Given the description of an element on the screen output the (x, y) to click on. 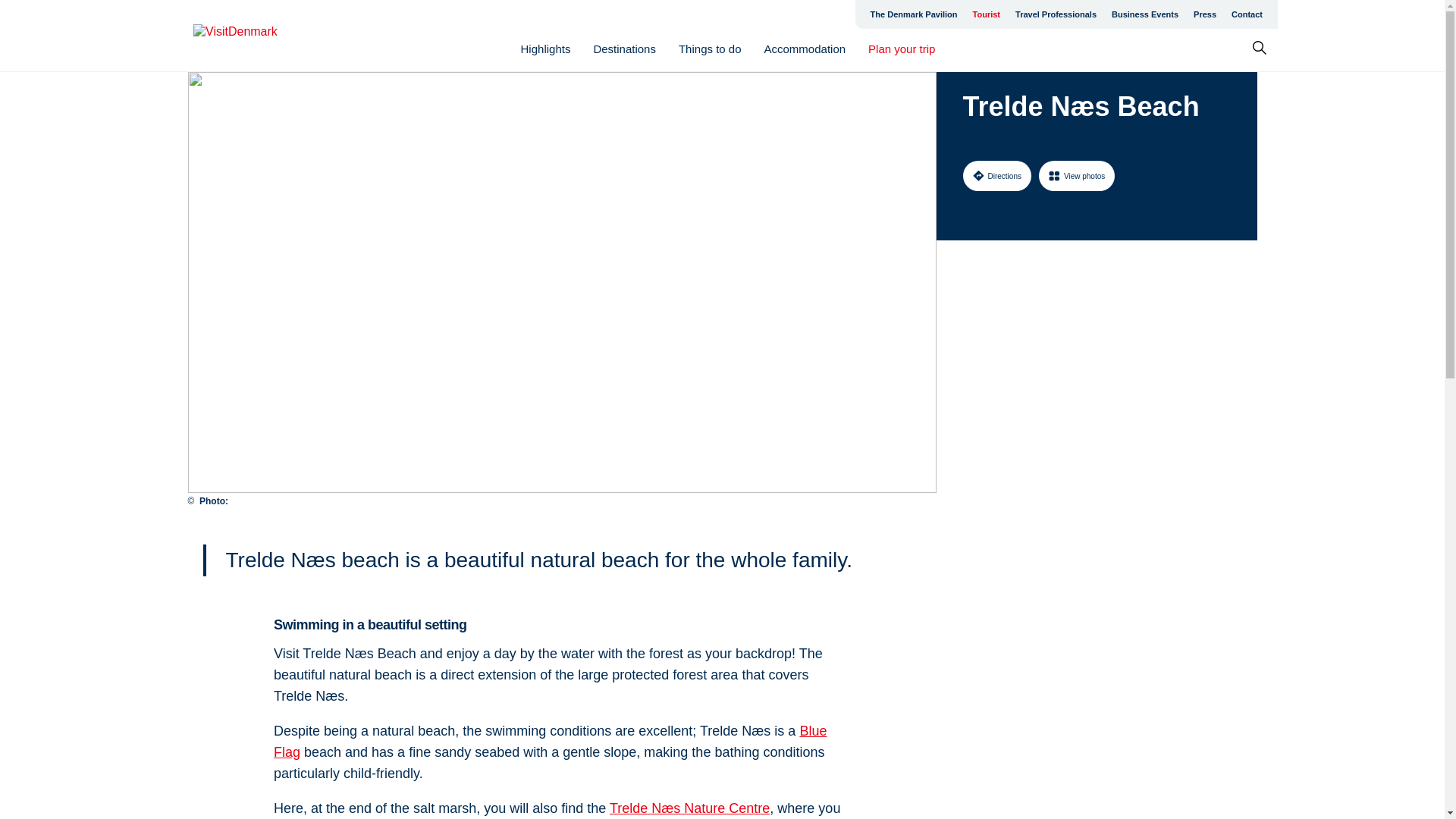
View photos (1077, 175)
Accommodation (804, 48)
Destinations (624, 48)
Blue Flag (550, 741)
Travel Professionals (1055, 14)
Highlights (545, 48)
Go to homepage (253, 35)
The Denmark Pavilion (914, 14)
Directions (996, 175)
Things to do (709, 48)
Press (1205, 14)
Contact (1246, 14)
Plan your trip (900, 48)
Tourist (986, 14)
Business Events (1144, 14)
